Given the description of an element on the screen output the (x, y) to click on. 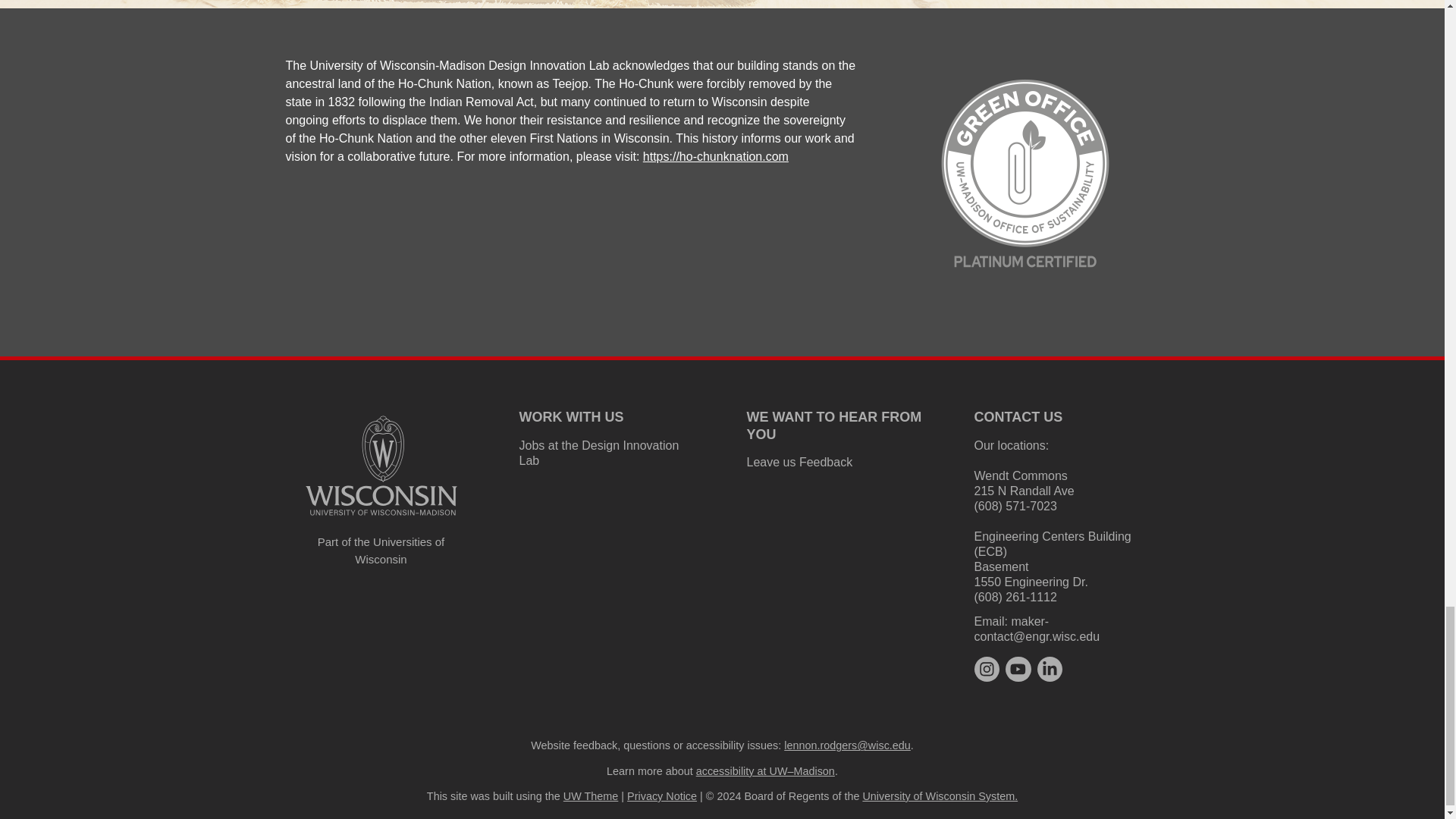
Part of the Universities of Wisconsin (380, 550)
linkedin (1049, 668)
instagram (986, 668)
youtube (1018, 668)
University logo that links to main university website (380, 517)
instagram (986, 669)
University logo that links to main university website (380, 465)
Jobs at the Design Innovation Lab (598, 452)
Leave us Feedback (798, 461)
